Given the description of an element on the screen output the (x, y) to click on. 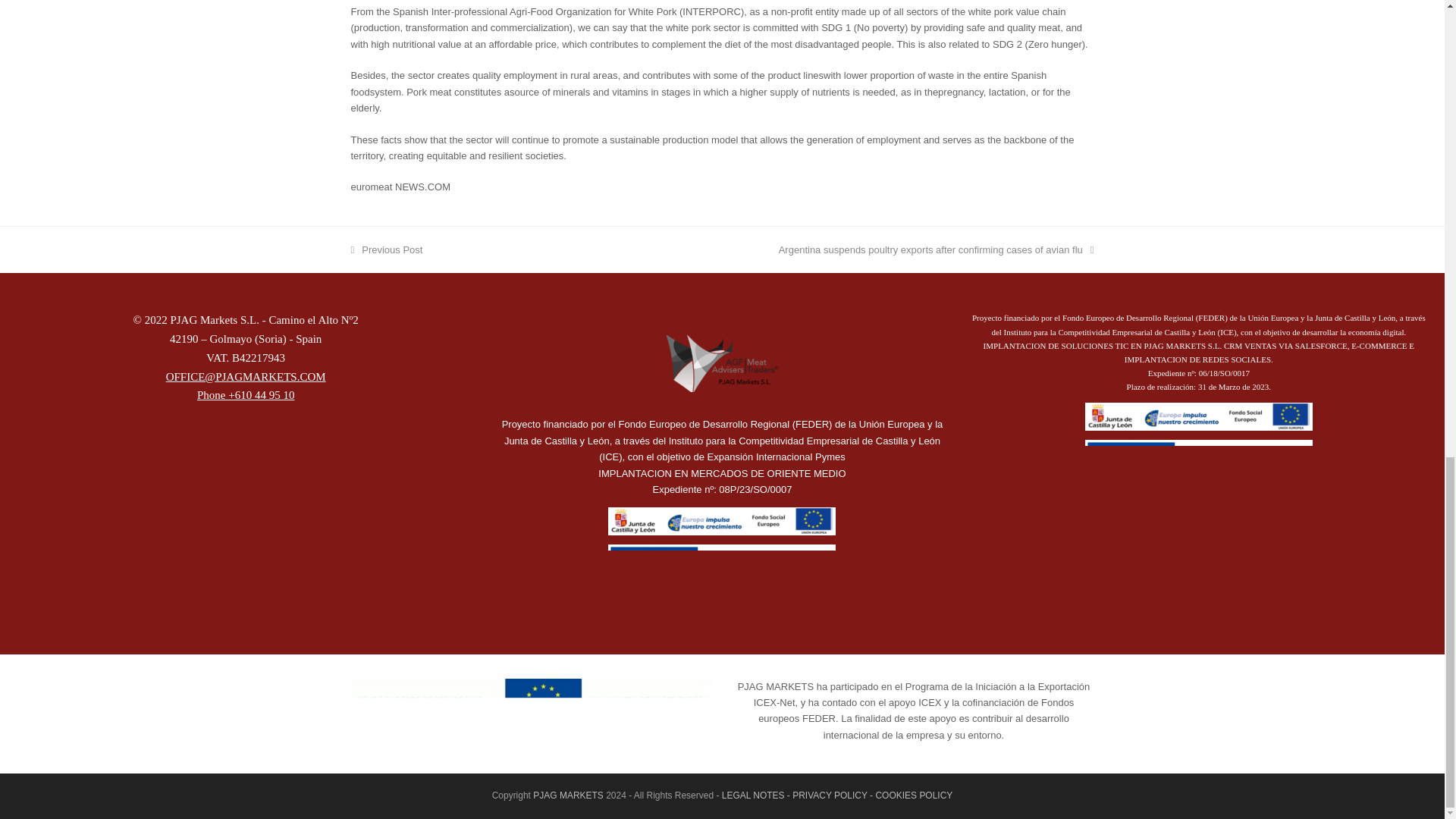
escala-agf (386, 249)
LEGAL NOTES - (721, 363)
PJAG MARKETS (757, 795)
PRIVACY POLICY - (568, 795)
COOKIES POLICY (833, 795)
